Given the description of an element on the screen output the (x, y) to click on. 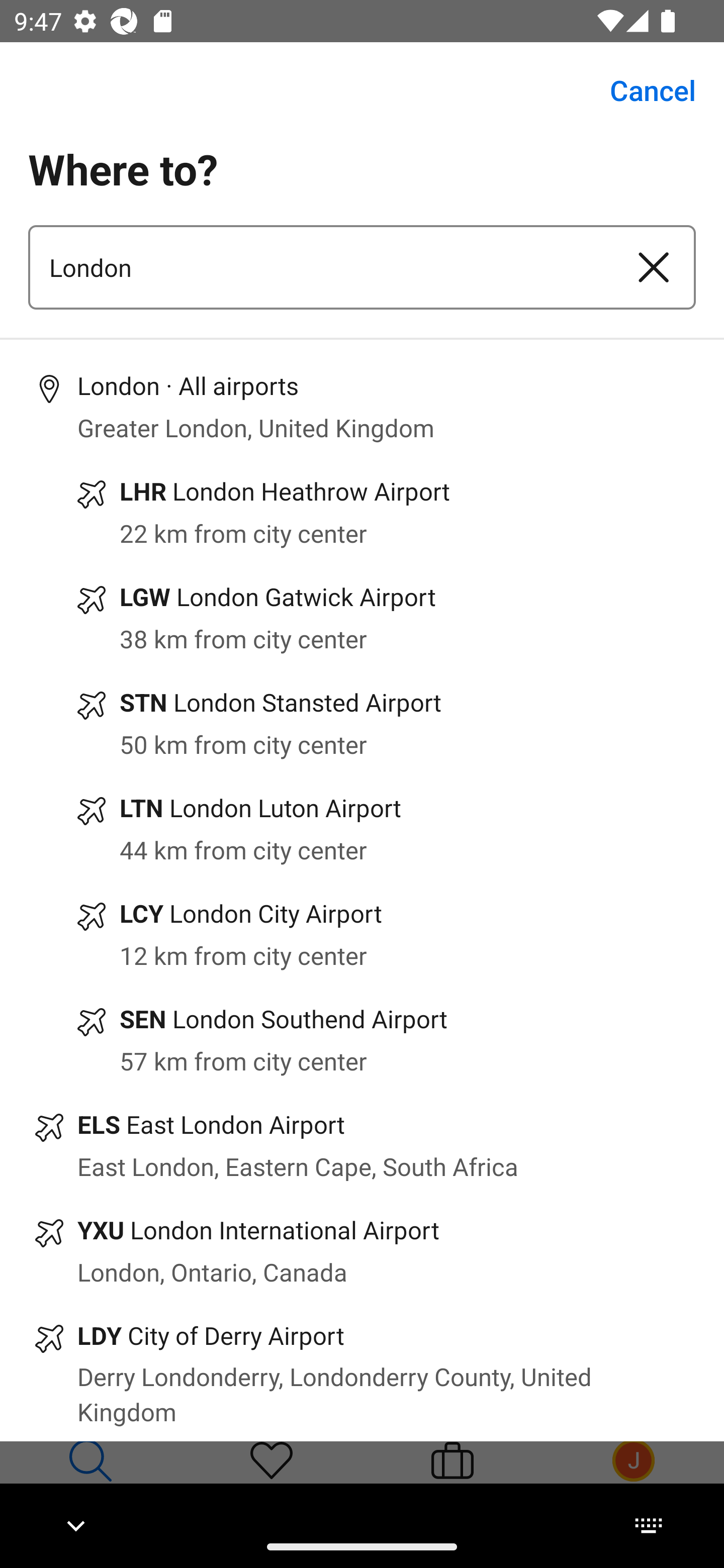
Cancel (641, 90)
London (319, 266)
Clear airport or city (653, 266)
LHR London Heathrow Airport 22 km from city center (362, 511)
LGW London Gatwick Airport 38 km from city center (362, 617)
STN London Stansted Airport 50 km from city center (362, 723)
LTN London Luton Airport 44 km from city center (362, 828)
LCY London City Airport 12 km from city center (362, 934)
SEN London Southend Airport 57 km from city center (362, 1039)
